Given the description of an element on the screen output the (x, y) to click on. 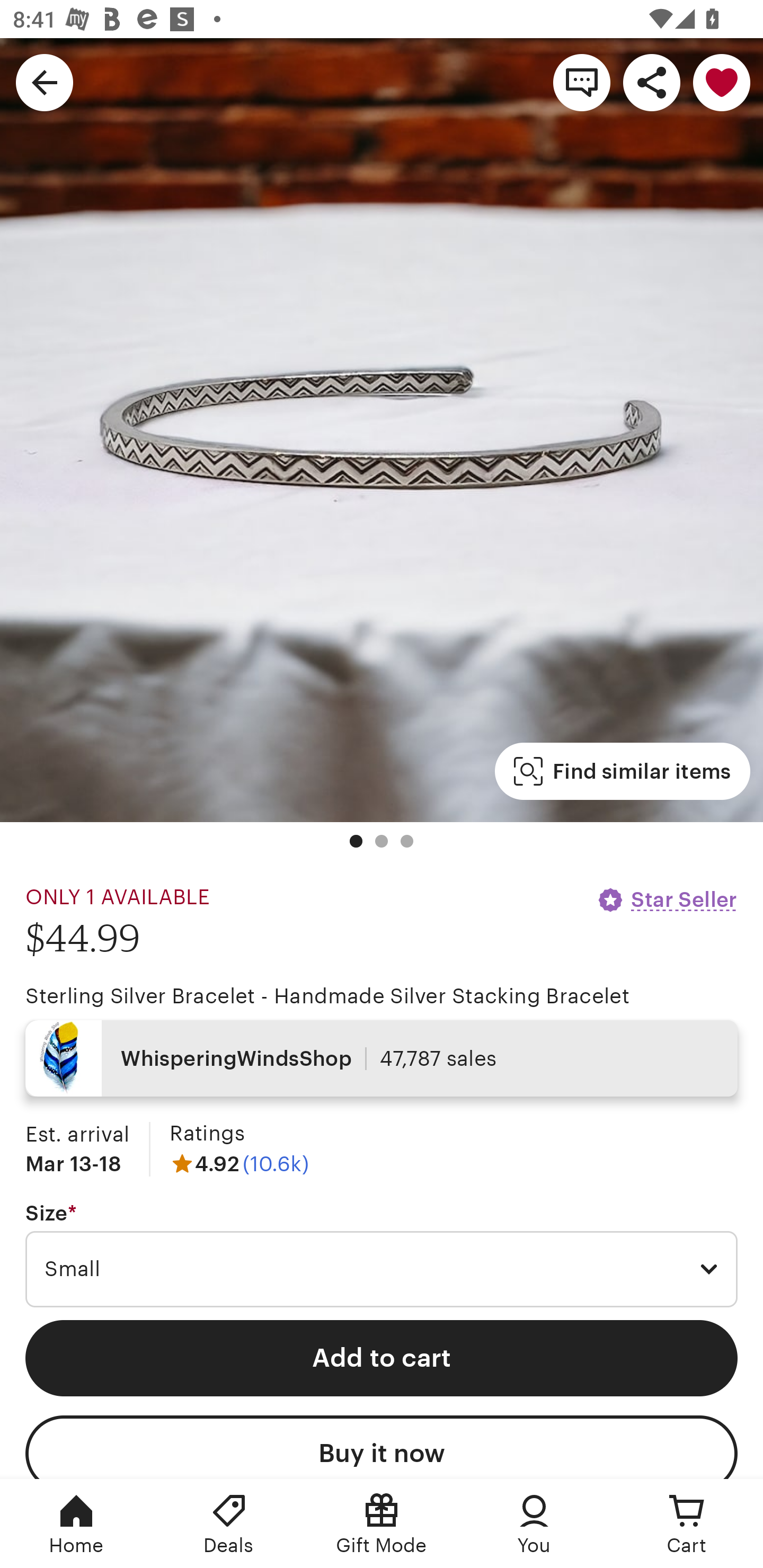
Navigate up (44, 81)
Contact shop (581, 81)
Share (651, 81)
Find similar items (622, 771)
Star Seller (666, 899)
WhisperingWindsShop 47,787 sales (381, 1058)
Ratings (206, 1133)
4.92 (10.6k) (239, 1163)
Size * Required Small (381, 1254)
Small (381, 1268)
Add to cart (381, 1358)
Buy it now (381, 1446)
Deals (228, 1523)
Gift Mode (381, 1523)
You (533, 1523)
Cart (686, 1523)
